Given the description of an element on the screen output the (x, y) to click on. 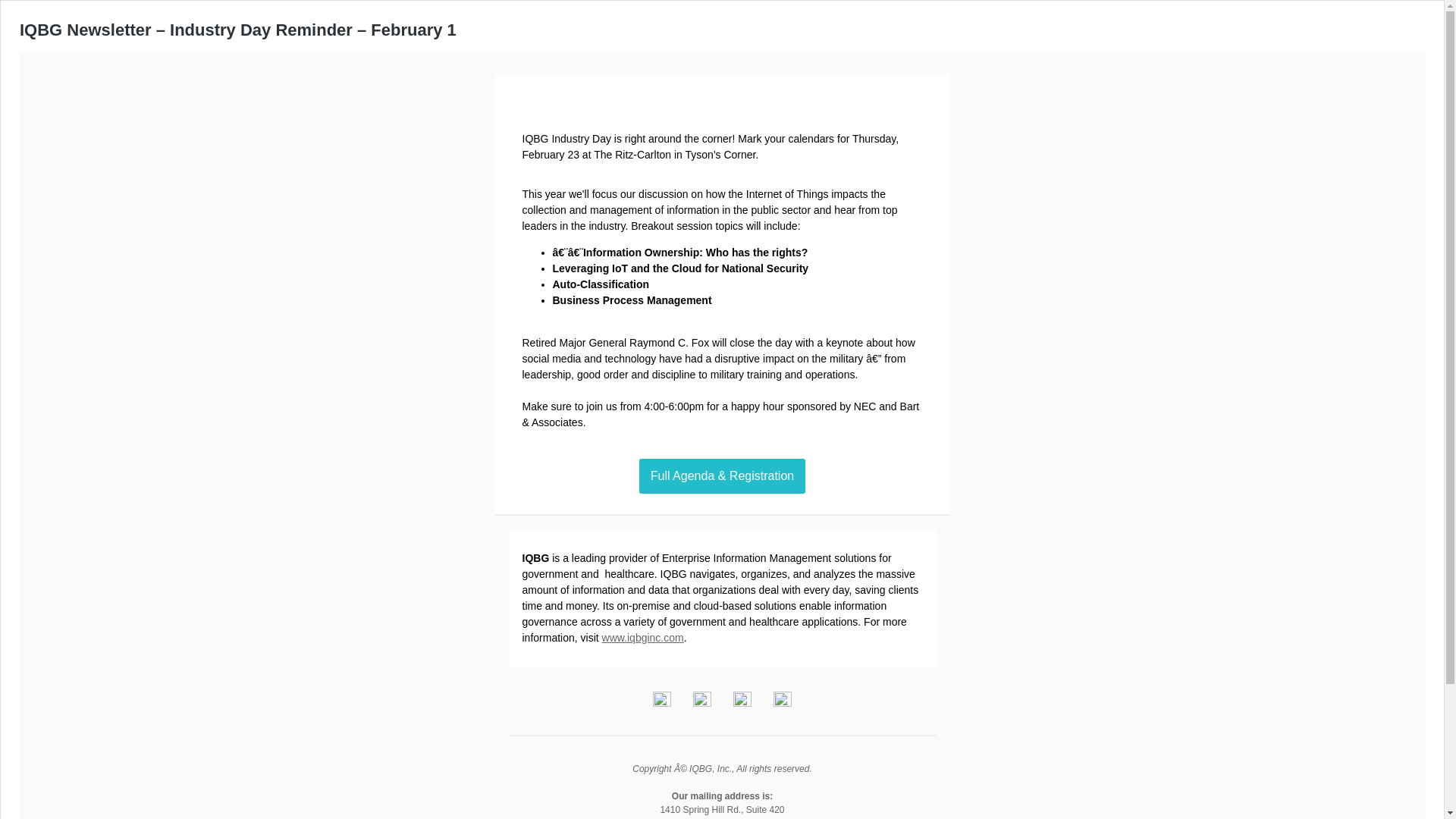
www.iqbginc.com (643, 637)
